Given the description of an element on the screen output the (x, y) to click on. 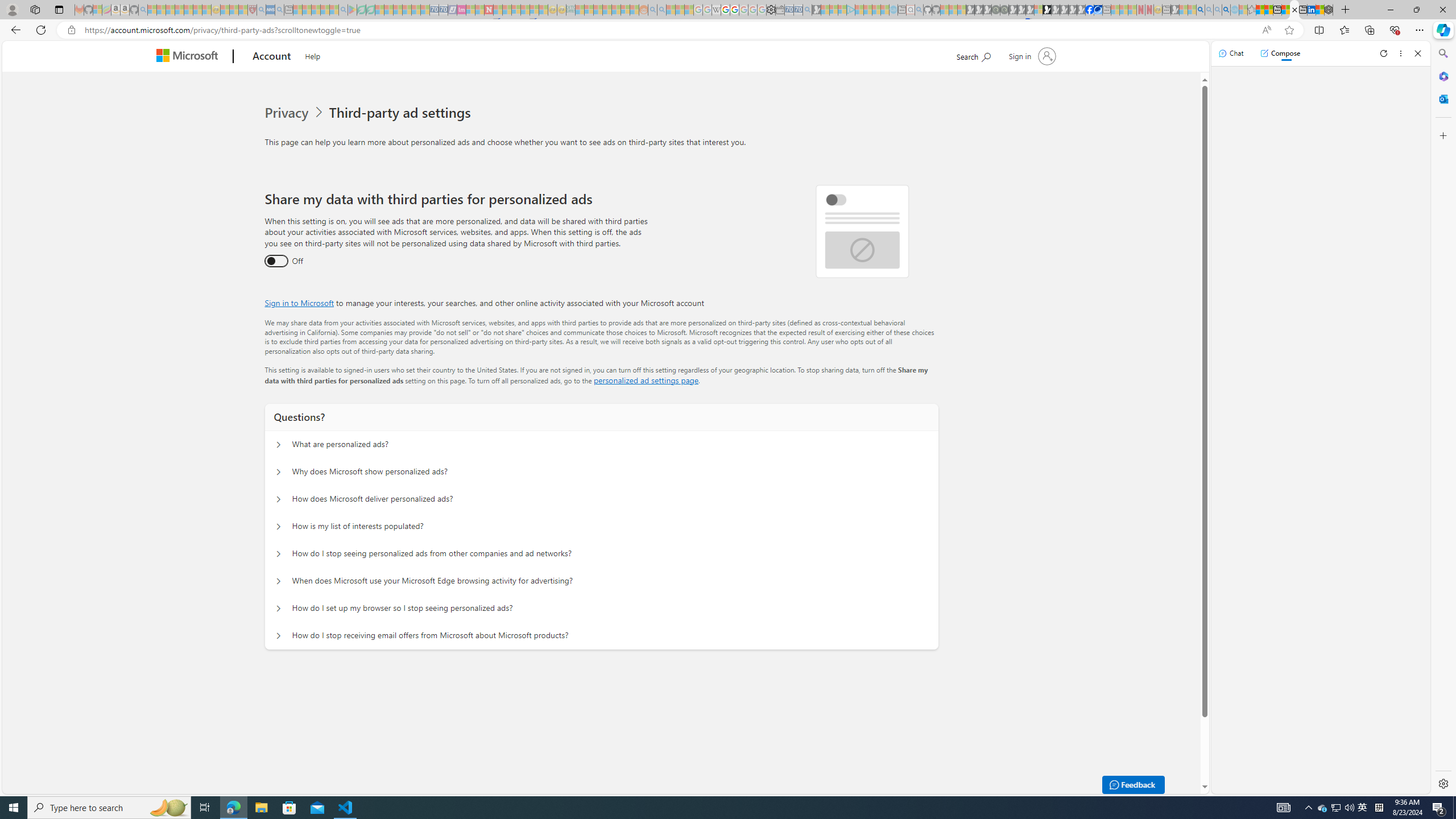
Sign in to Microsoft (299, 302)
